Given the description of an element on the screen output the (x, y) to click on. 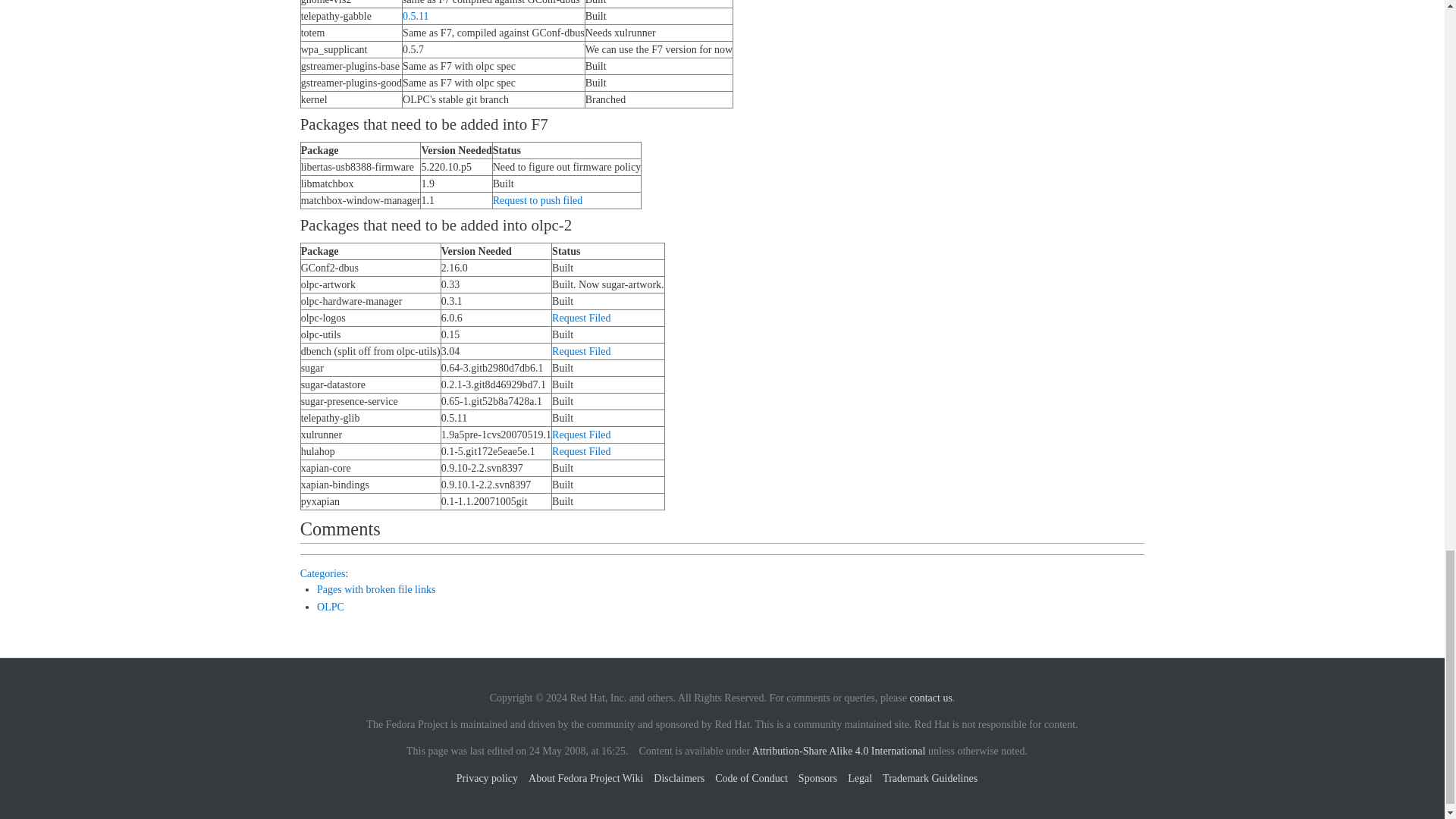
Category:OLPC (330, 606)
Special:Categories (322, 573)
Legal:Main (839, 750)
